Given the description of an element on the screen output the (x, y) to click on. 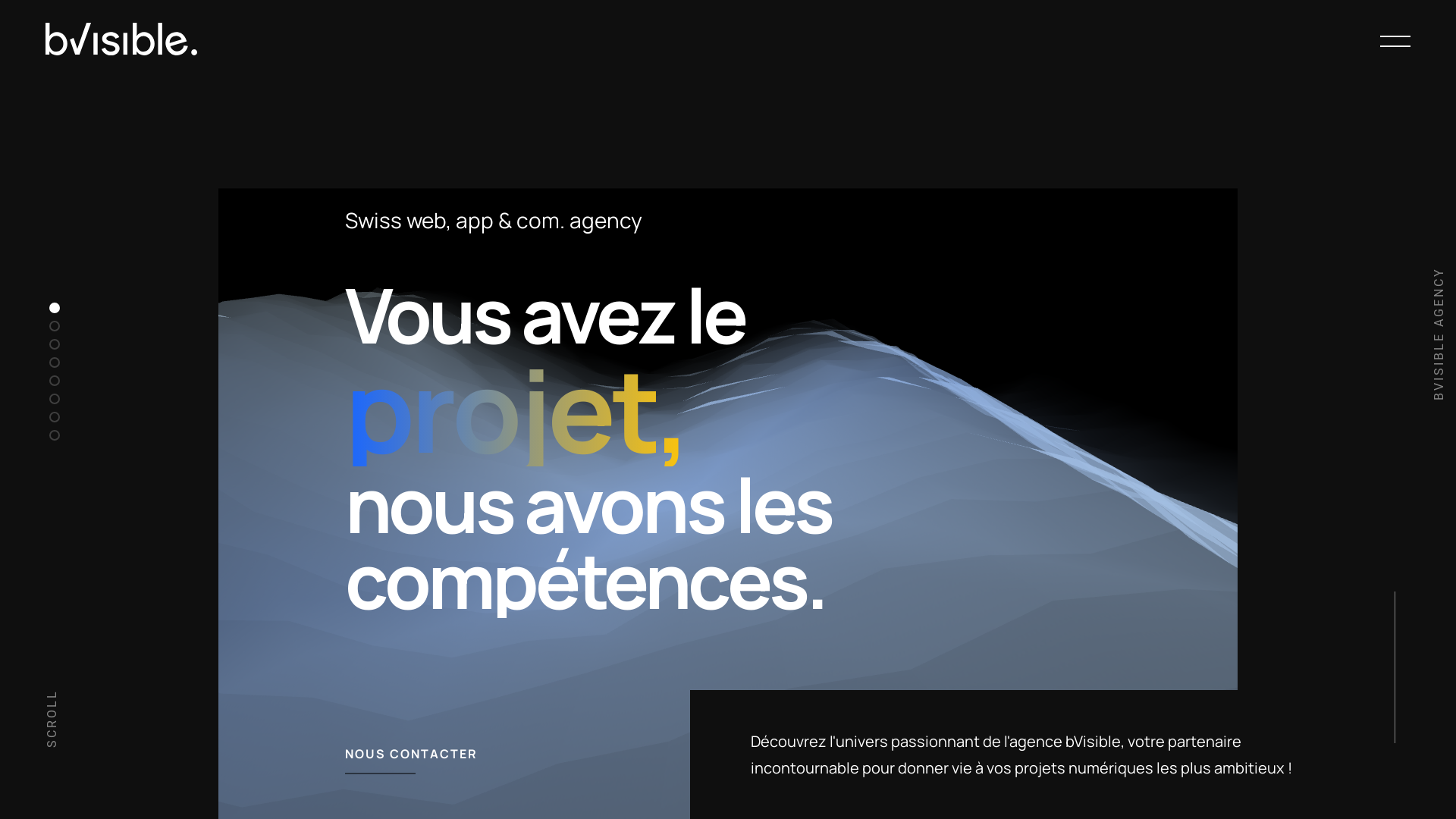
NOUS CONTACTER Element type: text (517, 753)
